Given the description of an element on the screen output the (x, y) to click on. 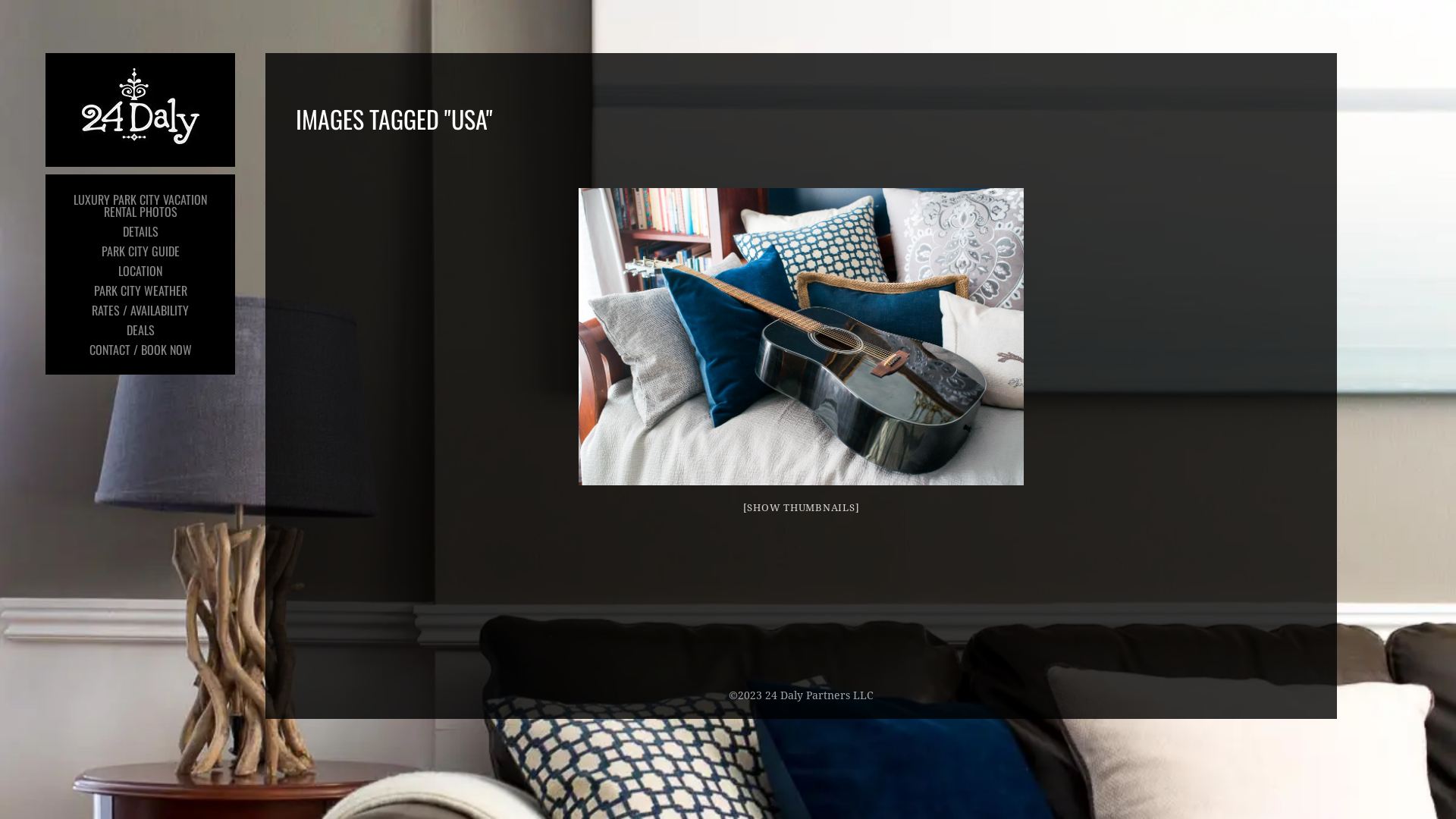
[SHOW THUMBNAILS] Element type: text (801, 507)
DEALS Element type: text (140, 329)
RATES / AVAILABILITY Element type: text (140, 310)
PARK CITY WEATHER Element type: text (140, 290)
LOCATION Element type: text (140, 270)
CONTACT / BOOK NOW Element type: text (140, 349)
LUXURY PARK CITY VACATION RENTAL PHOTOS Element type: text (140, 205)
PARK CITY GUIDE Element type: text (140, 250)
DETAILS Element type: text (140, 231)
